Given the description of an element on the screen output the (x, y) to click on. 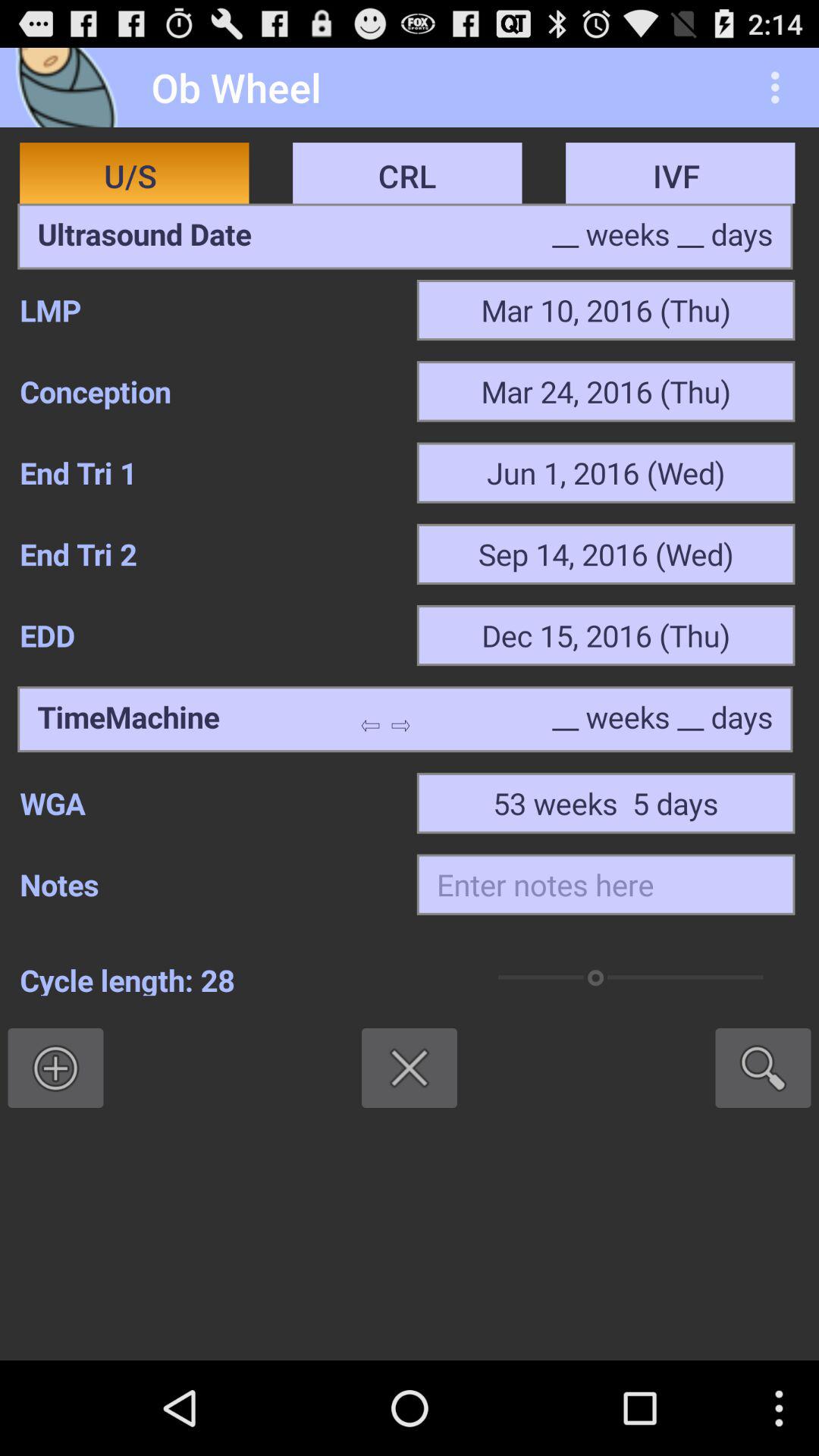
launch cycle length: 28 (233, 977)
